Given the description of an element on the screen output the (x, y) to click on. 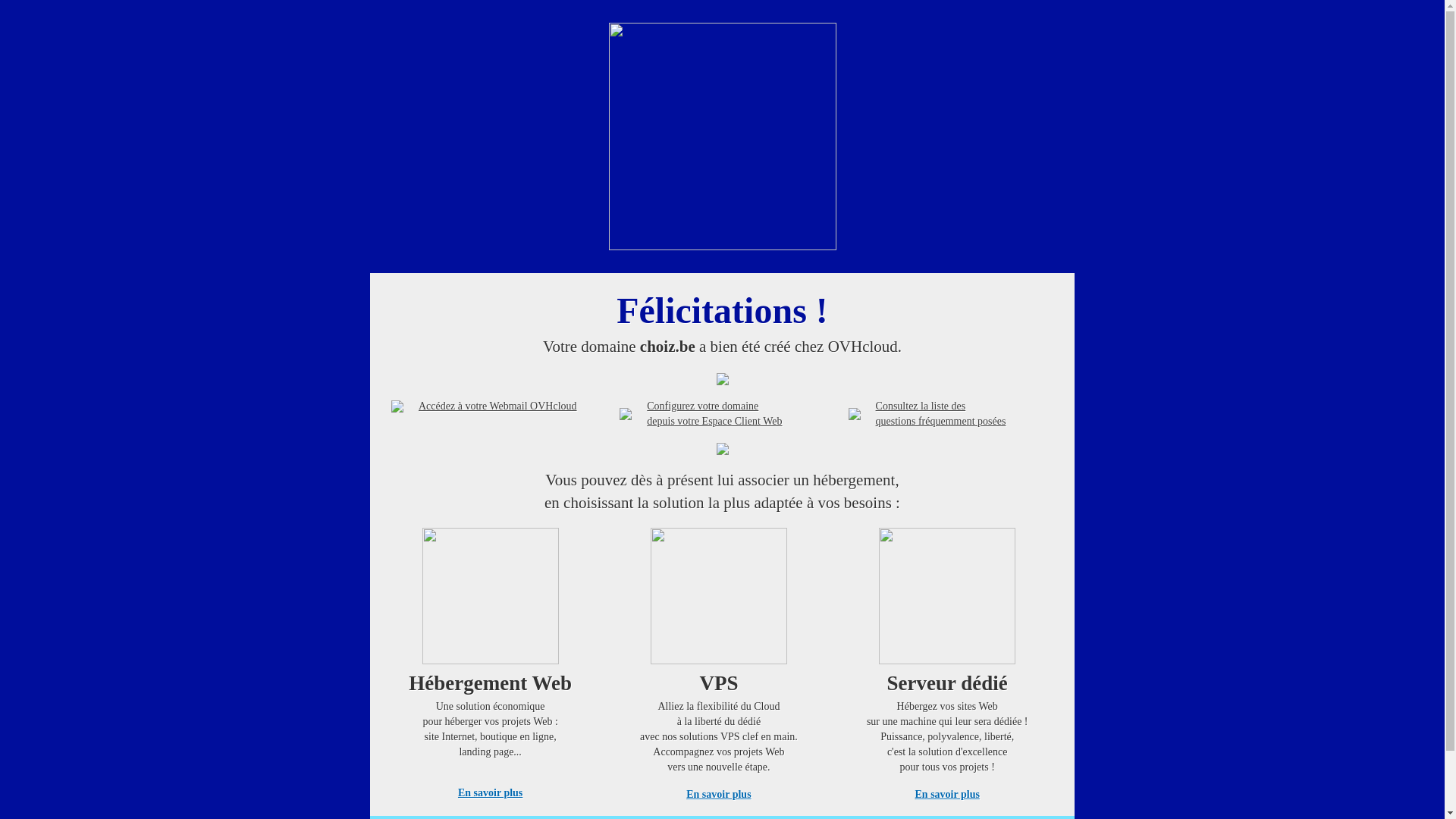
En savoir plus Element type: text (947, 794)
En savoir plus Element type: text (490, 792)
En savoir plus Element type: text (718, 794)
Configurez votre domaine
depuis votre Espace Client Web Element type: text (713, 413)
VPS Element type: hover (718, 660)
OVHcloud Element type: hover (721, 245)
